Given the description of an element on the screen output the (x, y) to click on. 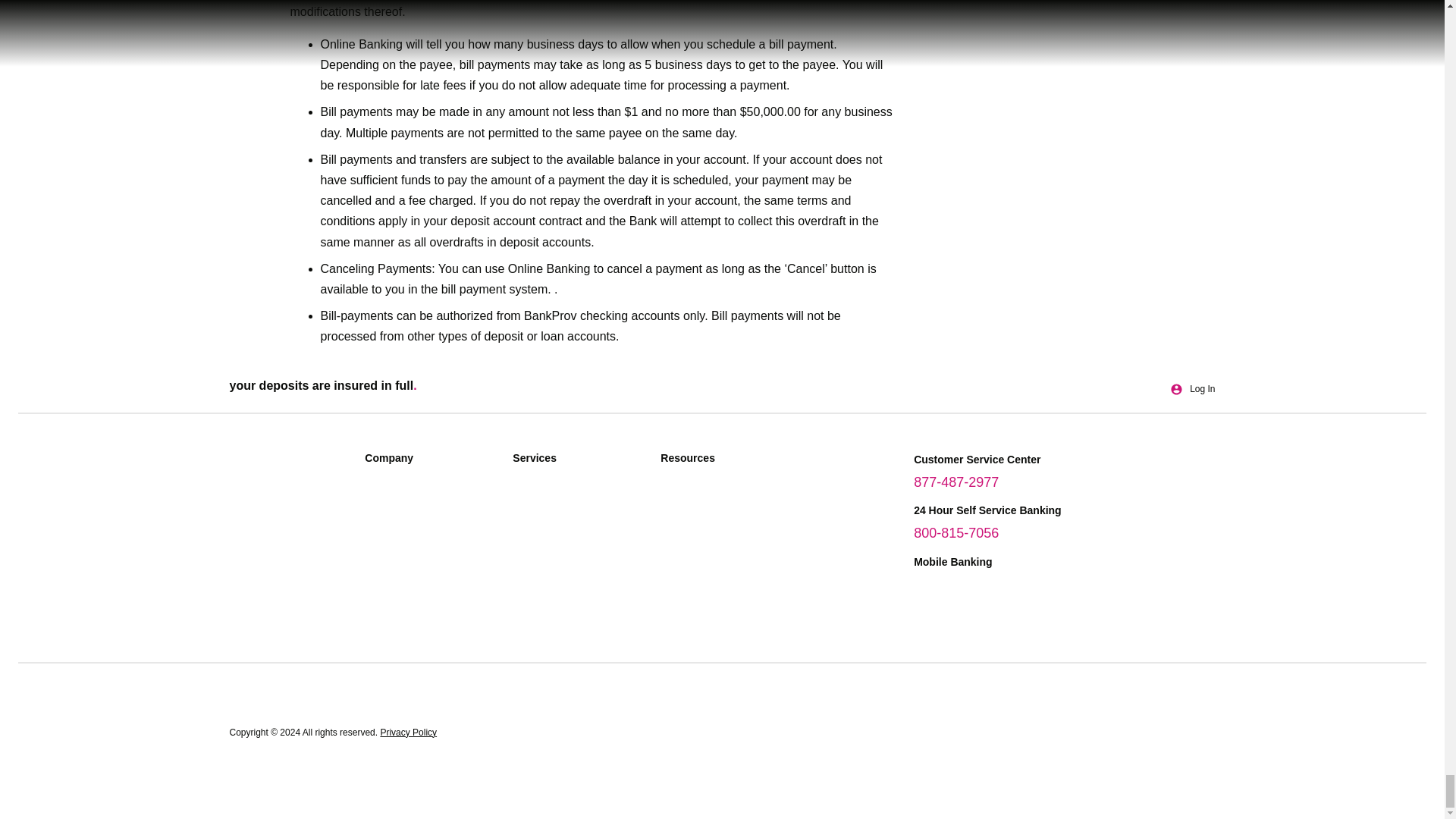
800-815-7056 (956, 532)
877-487-2977 (956, 482)
Resources (727, 462)
Privacy Policy (408, 731)
Services (579, 462)
Company (431, 462)
Log In (1192, 389)
